Given the description of an element on the screen output the (x, y) to click on. 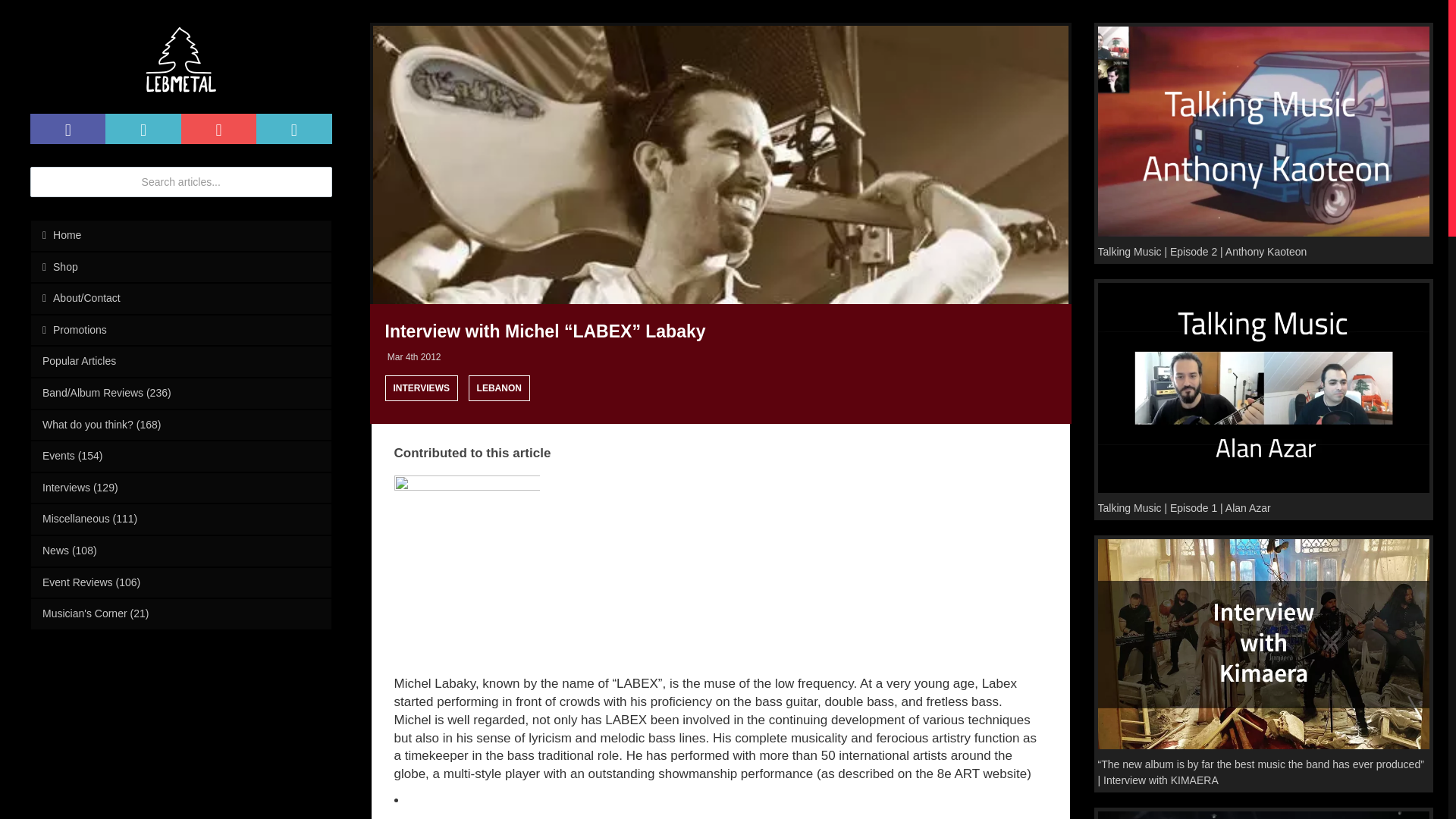
Shop (180, 267)
Home (180, 235)
LEBANON (498, 388)
Popular Articles (180, 361)
INTERVIEWS (421, 388)
Promotions (180, 330)
View profile (467, 548)
